Given the description of an element on the screen output the (x, y) to click on. 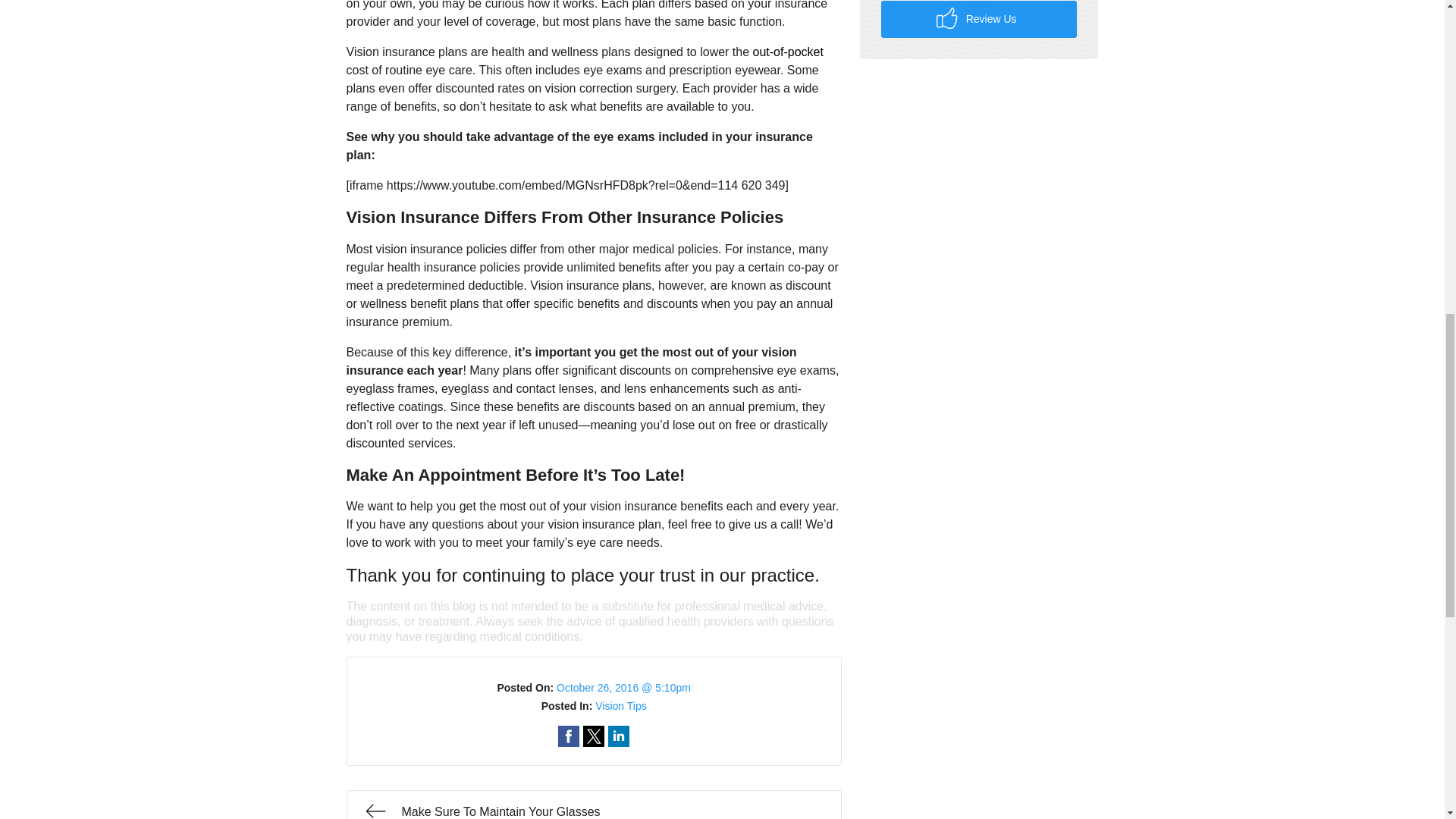
Review Us (978, 18)
Share on Twitter (593, 735)
Share on Facebook (568, 735)
Share on Twitter (593, 735)
Leave Us A Review (978, 18)
Share on LinkedIn (618, 735)
Vision Tips (620, 705)
Share on LinkedIn (618, 735)
Make Sure To Maintain Your Glasses (593, 804)
Share on Facebook (568, 735)
